Given the description of an element on the screen output the (x, y) to click on. 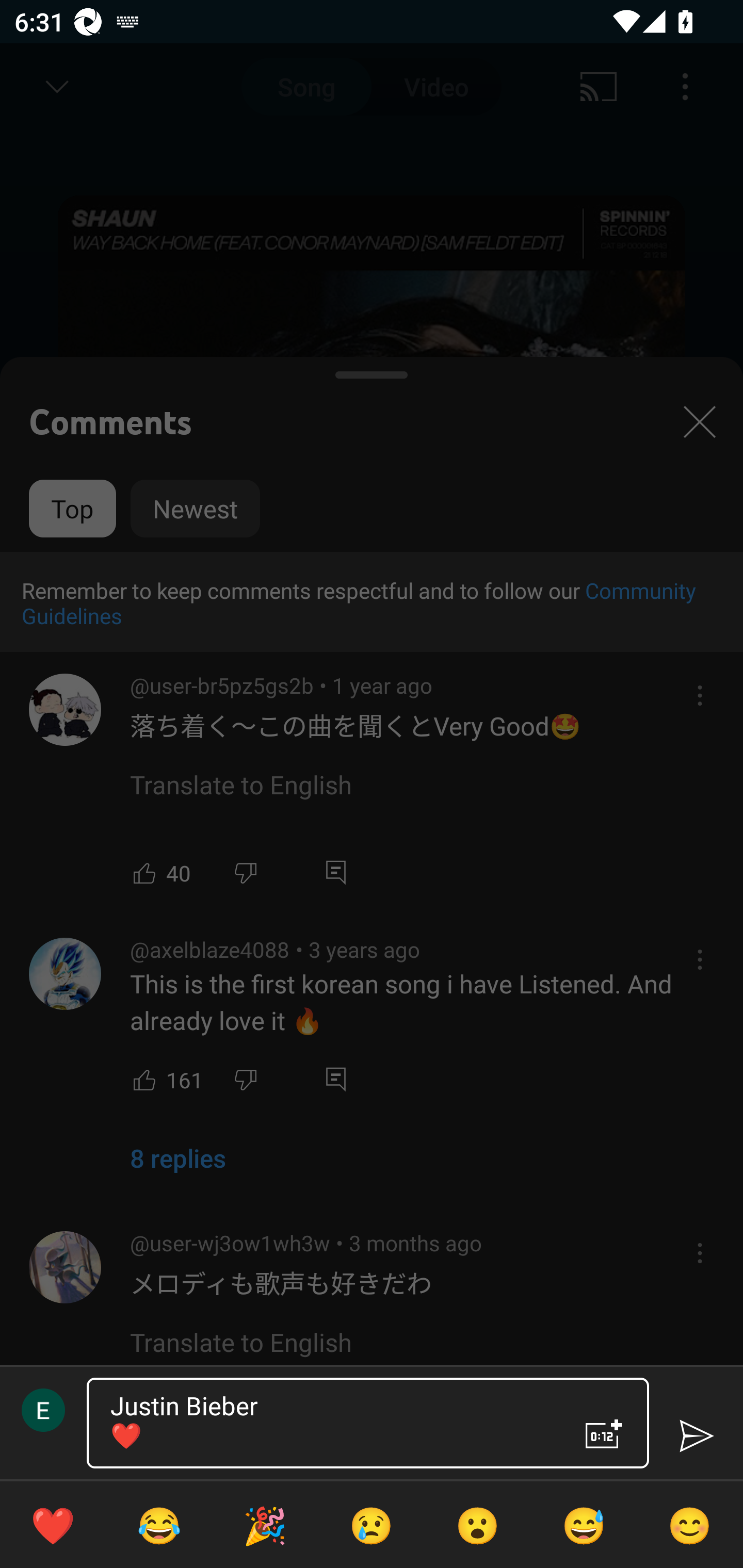
Justin Bieber
❤ (329, 1422)
Add a timestamp (603, 1433)
Send comment (695, 1436)
❤ (53, 1524)
😂 (158, 1524)
🎉 (264, 1524)
😢 (371, 1524)
😮 (477, 1524)
😅 (583, 1524)
😊 (689, 1524)
